Given the description of an element on the screen output the (x, y) to click on. 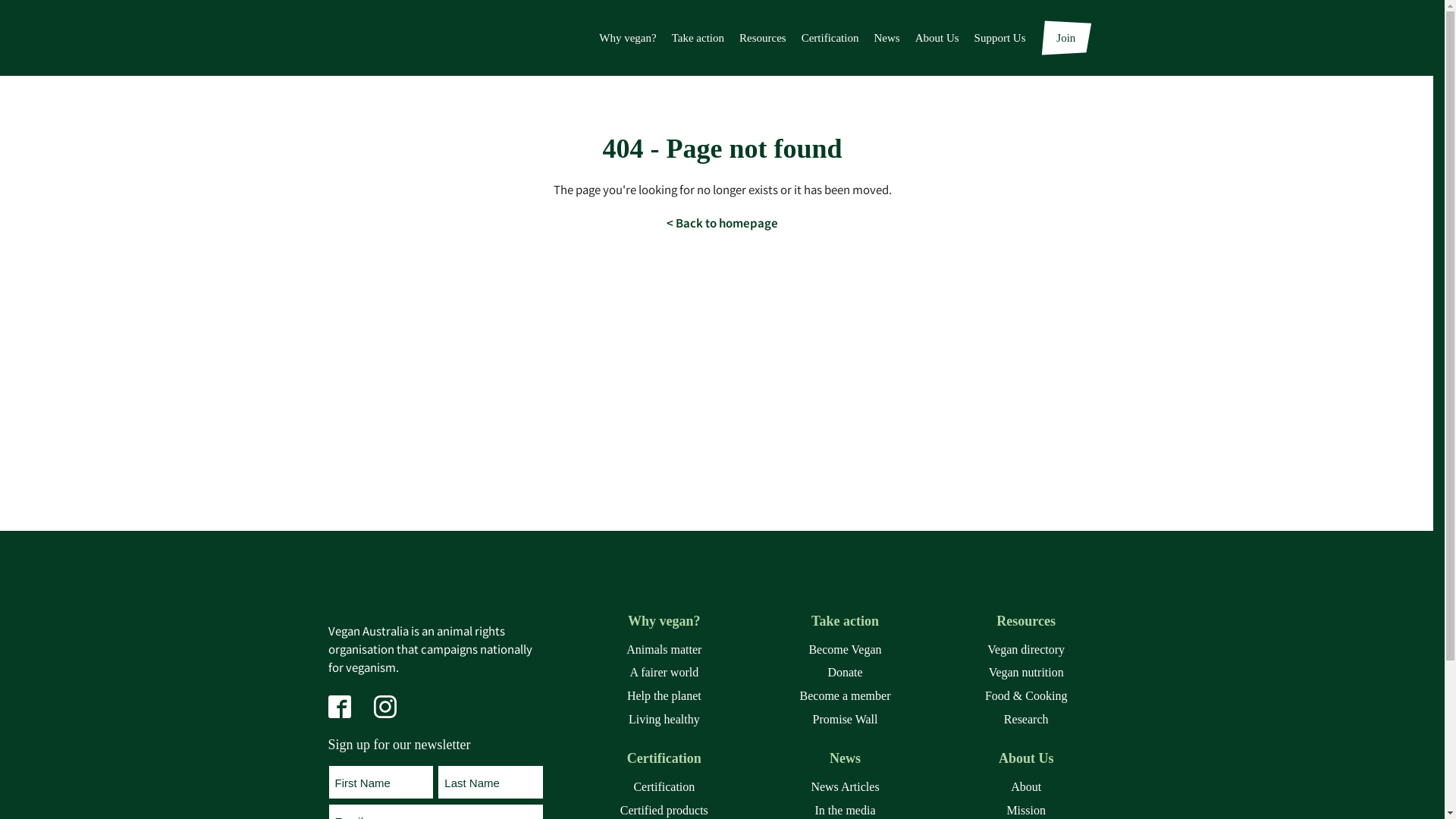
Help the planet Element type: text (663, 696)
Join Element type: text (1065, 37)
Living healthy Element type: text (663, 719)
Resources Element type: text (762, 37)
Vegan nutrition Element type: text (1026, 672)
Research Element type: text (1026, 719)
Support Us Element type: text (1000, 37)
Vegan directory Element type: text (1026, 649)
Certification Element type: text (663, 758)
About Us Element type: text (937, 37)
Donate Element type: text (845, 672)
A fairer world Element type: text (663, 672)
< Back to homepage Element type: text (722, 222)
Why vegan? Element type: text (663, 621)
Why vegan? Element type: text (627, 37)
News Element type: text (845, 758)
News Element type: text (886, 37)
News Articles Element type: text (845, 787)
Become Vegan Element type: text (845, 649)
Food & Cooking Element type: text (1026, 696)
About Us Element type: text (1026, 758)
Promise Wall Element type: text (845, 719)
Certification Element type: text (663, 787)
Certification Element type: text (830, 37)
Resources Element type: text (1026, 621)
Animals matter Element type: text (663, 649)
Take action Element type: text (845, 621)
Become a member Element type: text (845, 696)
Take action Element type: text (697, 37)
About Element type: text (1026, 787)
